Given the description of an element on the screen output the (x, y) to click on. 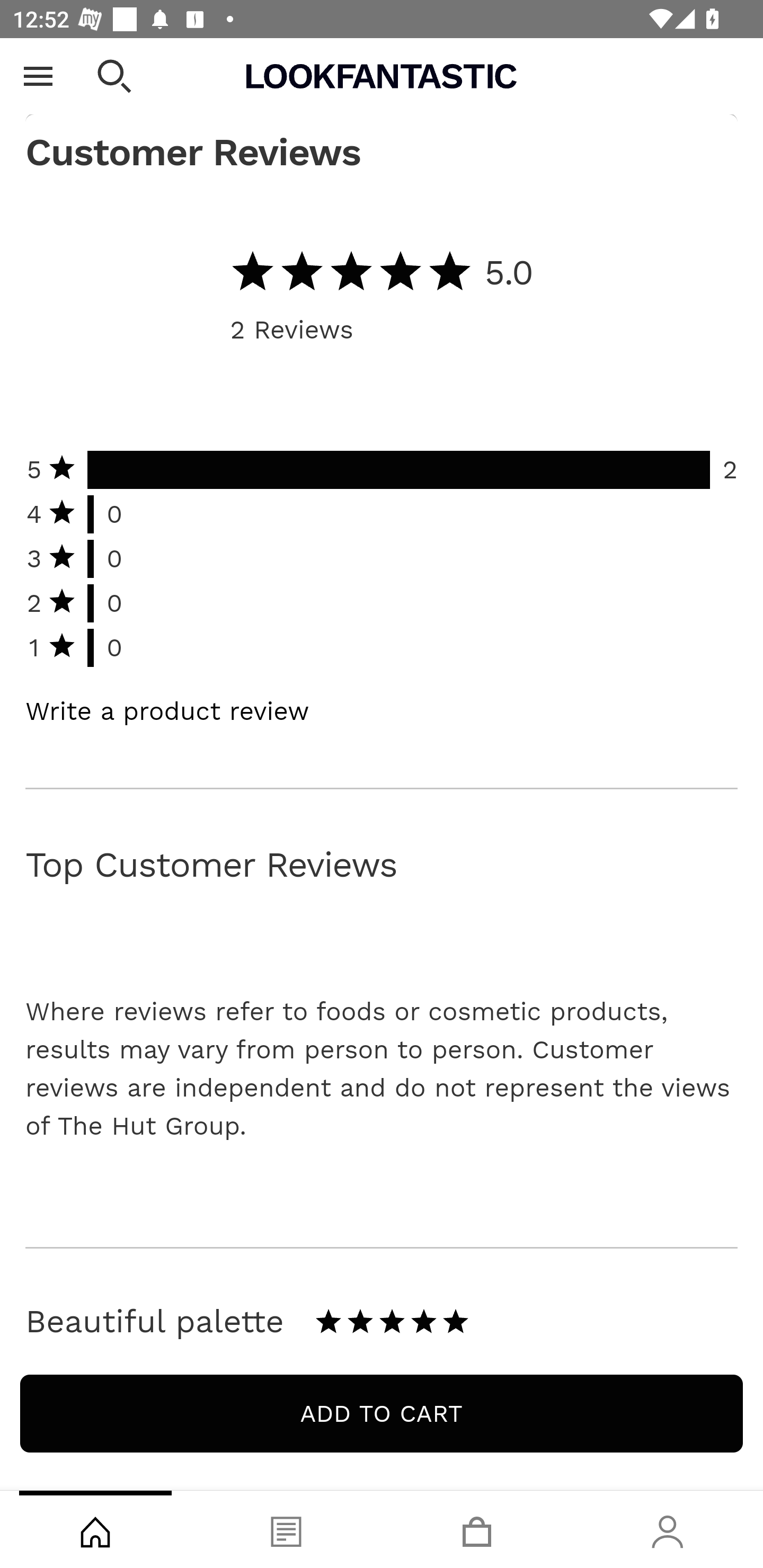
From $114.40 (381, 67)
Write a product review (167, 712)
Add to cart (381, 1414)
Shop, tab, 1 of 4 (95, 1529)
Blog, tab, 2 of 4 (285, 1529)
Basket, tab, 3 of 4 (476, 1529)
Account, tab, 4 of 4 (667, 1529)
